Given the description of an element on the screen output the (x, y) to click on. 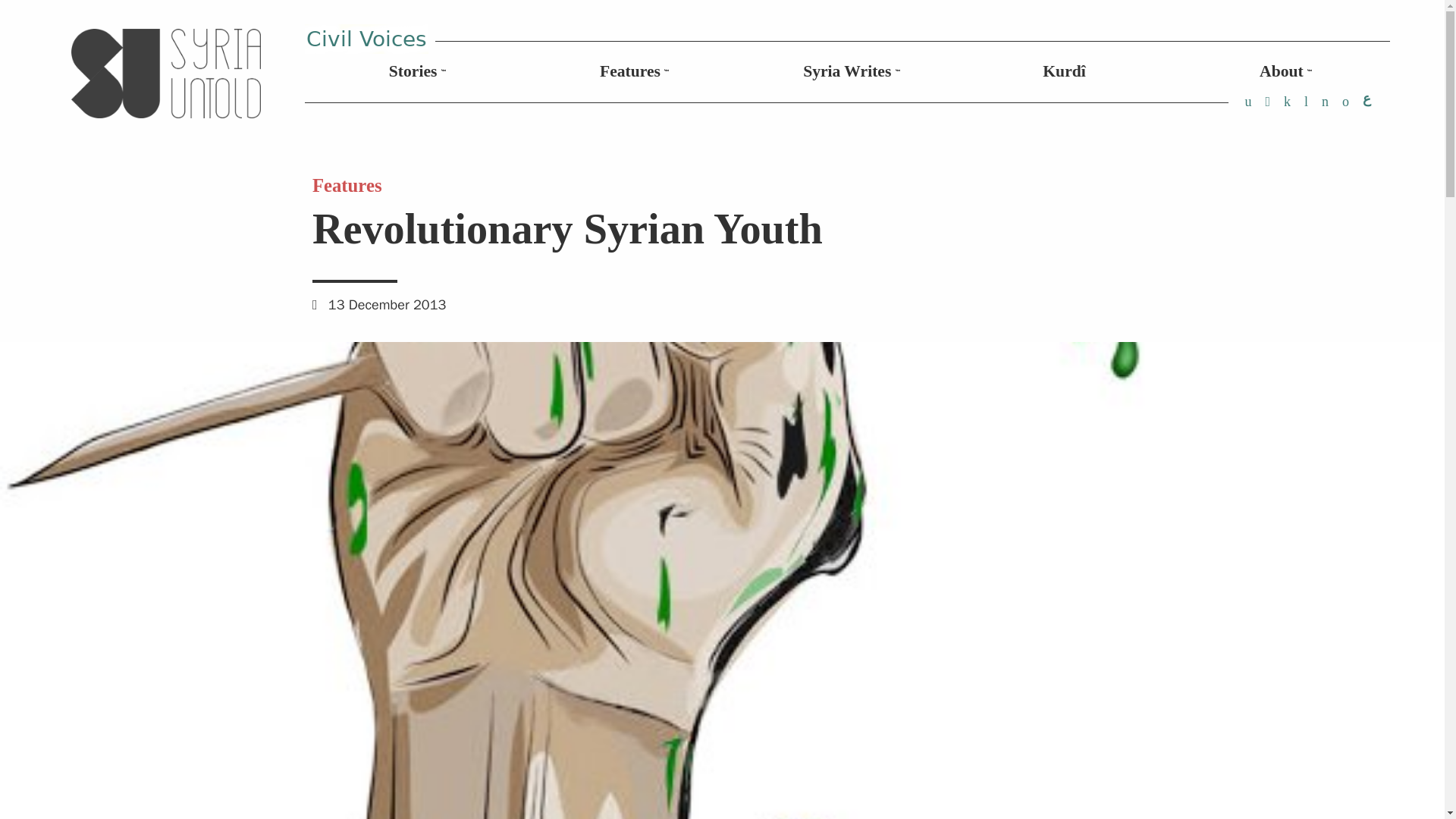
Stories (412, 71)
